Given the description of an element on the screen output the (x, y) to click on. 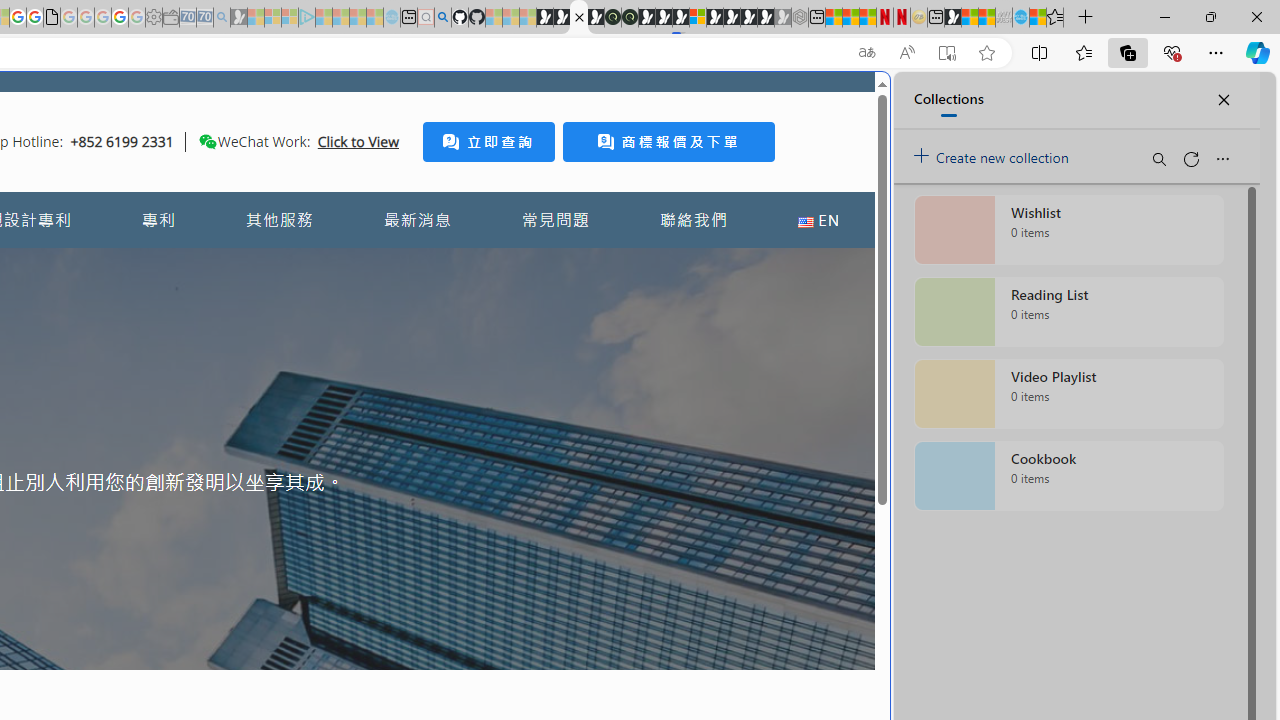
Services - Maintenance | Sky Blue Bikes - Sky Blue Bikes (1020, 17)
EN (818, 220)
